Given the description of an element on the screen output the (x, y) to click on. 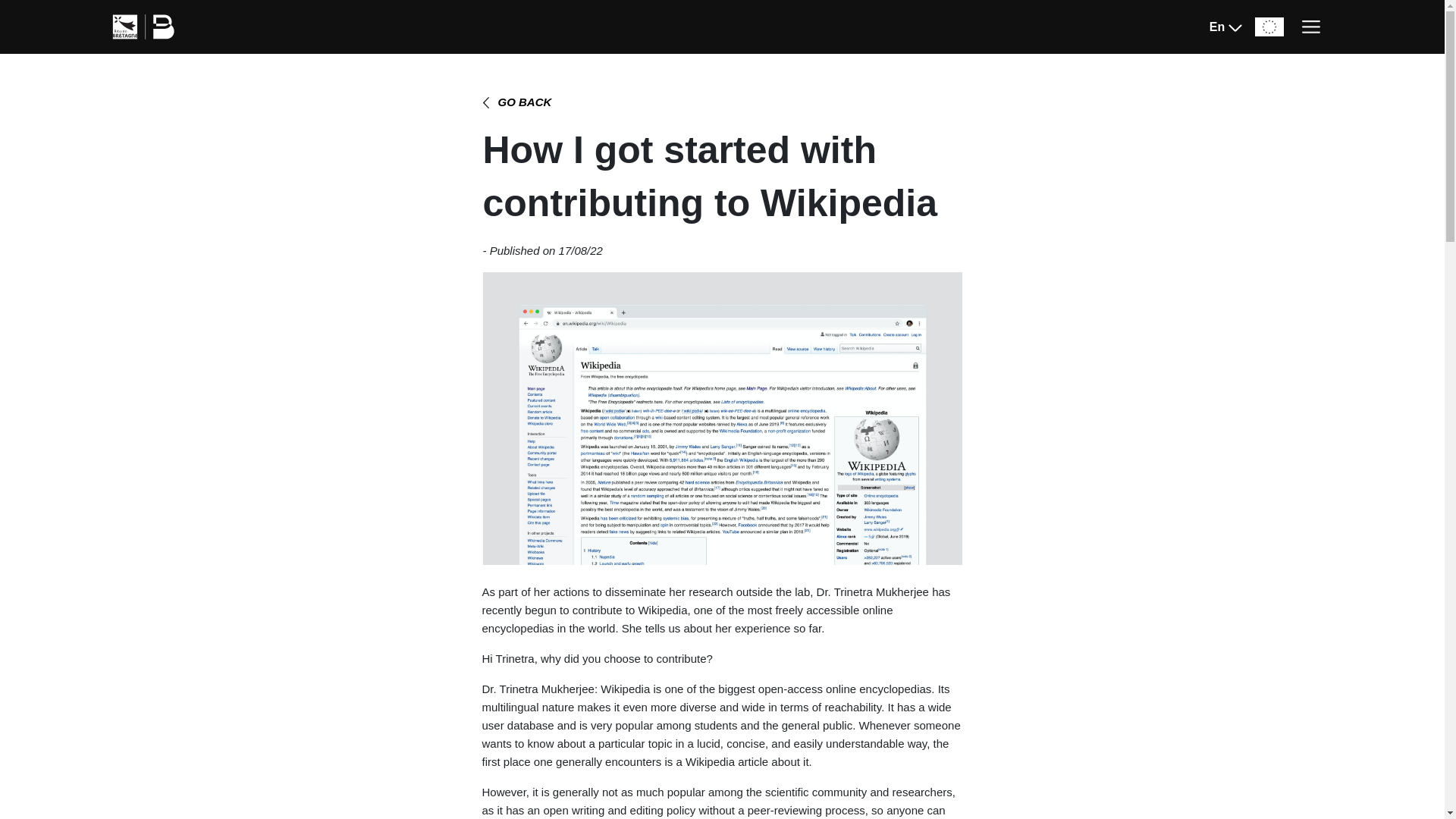
News Element type: text (169, 71)
GO BACK Element type: text (516, 102)
En Element type: text (1226, 26)
Home Element type: text (122, 71)
Menu Element type: hover (1311, 26)
